Given the description of an element on the screen output the (x, y) to click on. 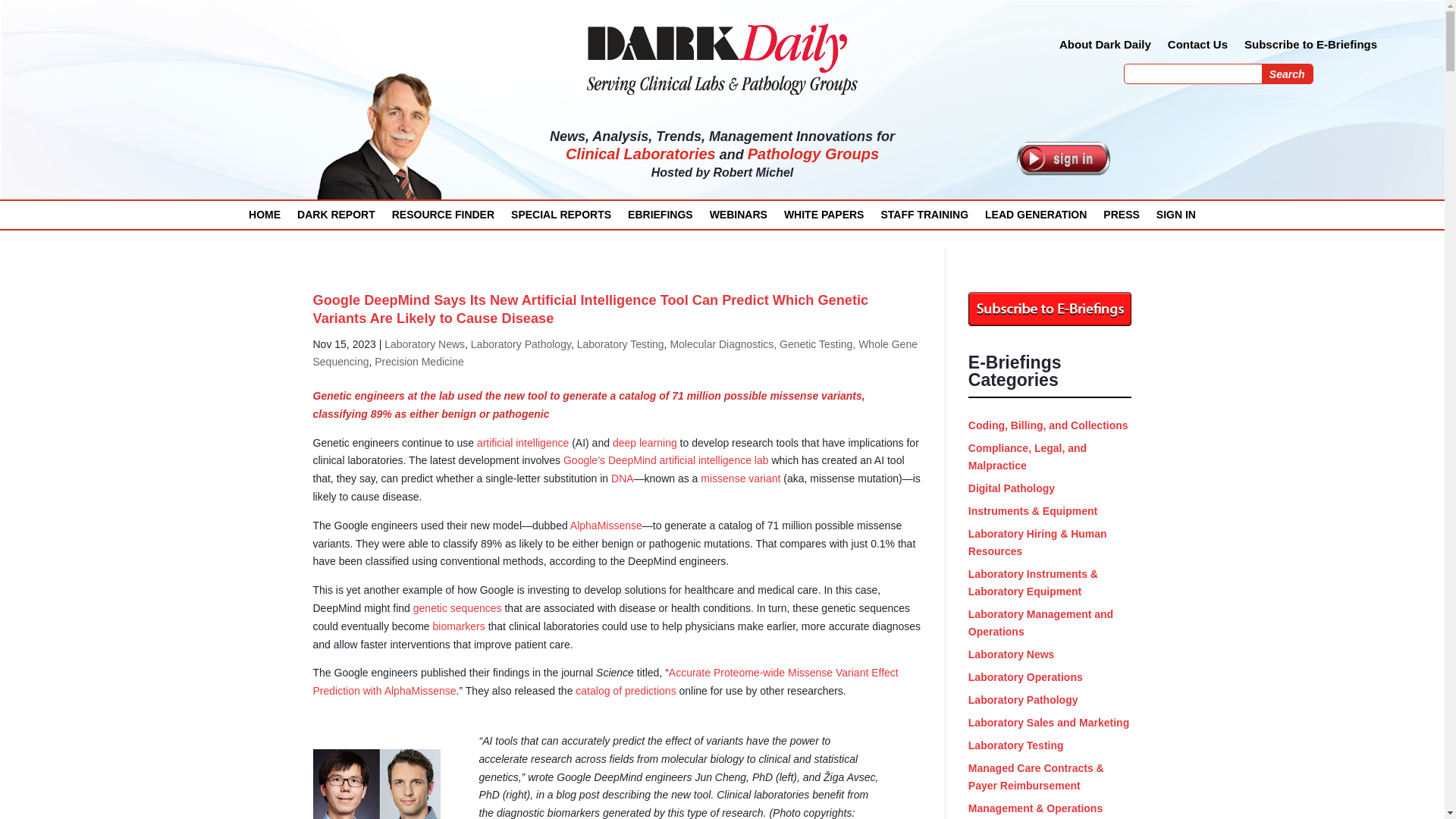
Search (1287, 73)
Subscribe to E-Briefings (1310, 47)
Laboratory Testing (619, 344)
WHITE PAPERS (824, 217)
Search (1287, 73)
Search (1287, 73)
WEBINARS (738, 217)
Laboratory Pathology (520, 344)
deep learning (644, 442)
LEAD GENERATION (1035, 217)
